Given the description of an element on the screen output the (x, y) to click on. 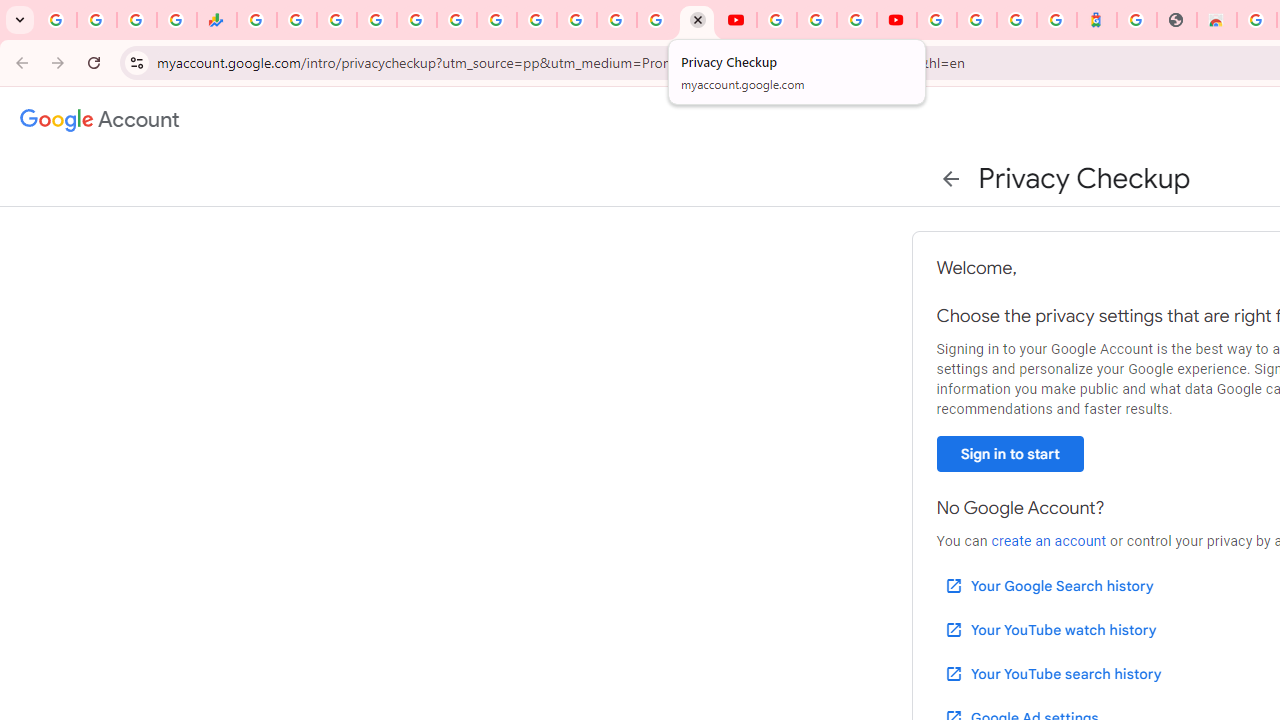
Content Creator Programs & Opportunities - YouTube Creators (896, 20)
Atour Hotel - Google hotels (1096, 20)
YouTube (776, 20)
Sign in - Google Accounts (977, 20)
Sign in - Google Accounts (936, 20)
Your Google Search history (1048, 586)
Android TV Policies and Guidelines - Transparency Center (497, 20)
Sign in - Google Accounts (576, 20)
Google Workspace Admin Community (56, 20)
Sign in to start (1009, 454)
Sign in - Google Accounts (376, 20)
create an account (1048, 541)
